Given the description of an element on the screen output the (x, y) to click on. 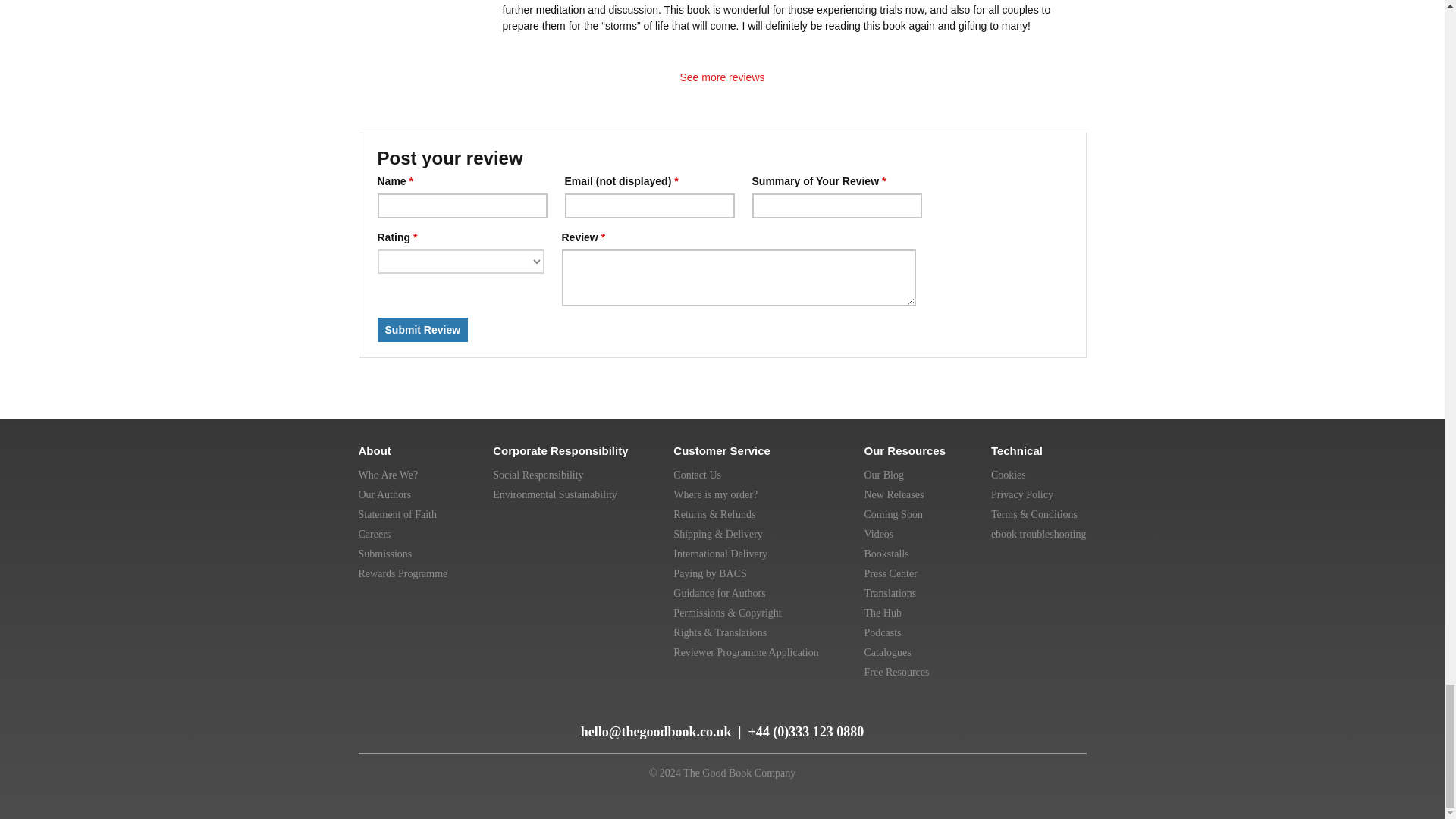
Go to US Website (972, 715)
Go to New Zealand Website (1039, 715)
Go to Australia Website (1006, 715)
Go to South Africa Website (1071, 715)
Go to UK Website (937, 715)
Submit Review (422, 329)
Subscribe to feed (371, 725)
